Given the description of an element on the screen output the (x, y) to click on. 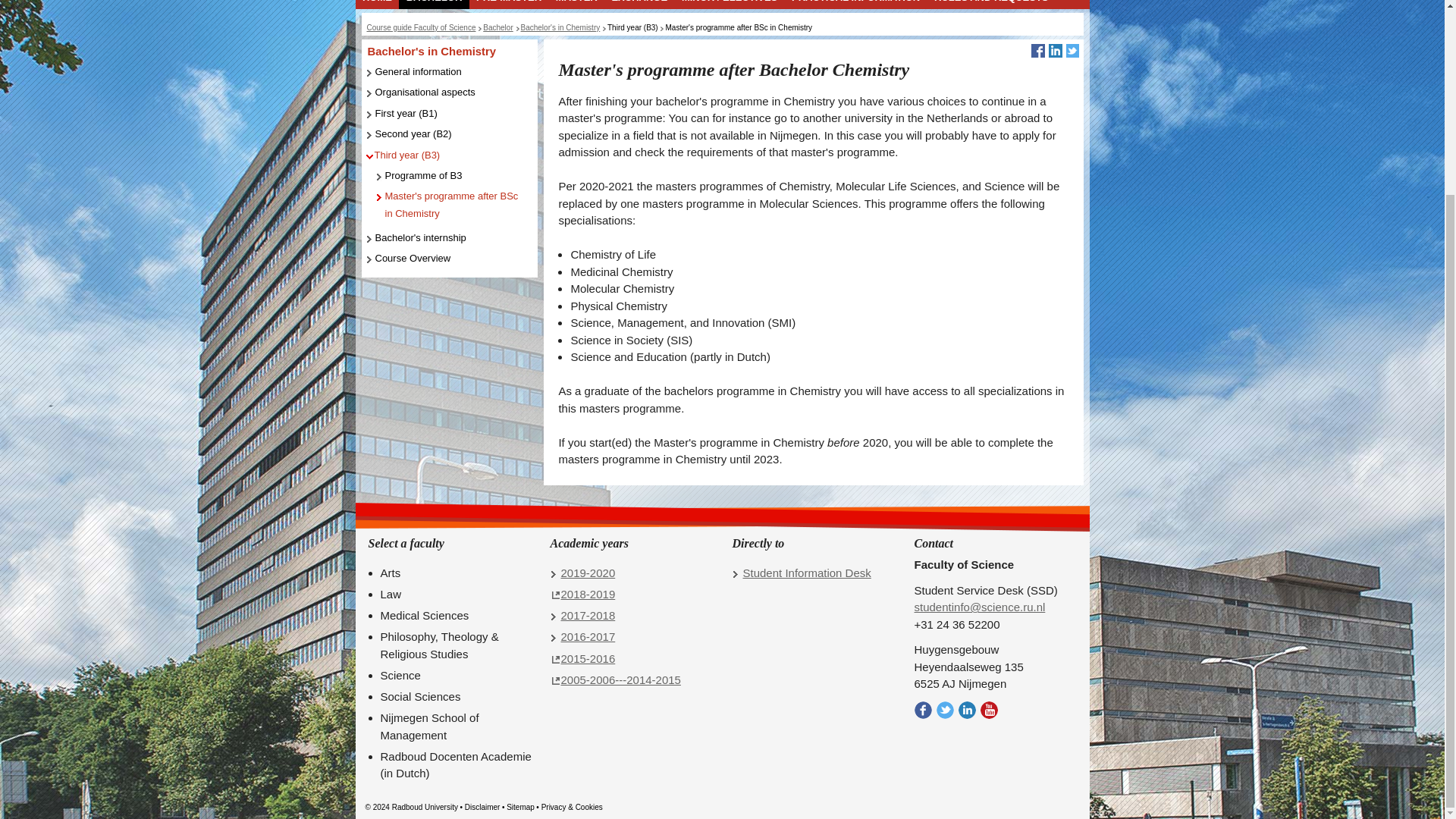
BACHELOR (434, 3)
HOME (376, 3)
